Given the description of an element on the screen output the (x, y) to click on. 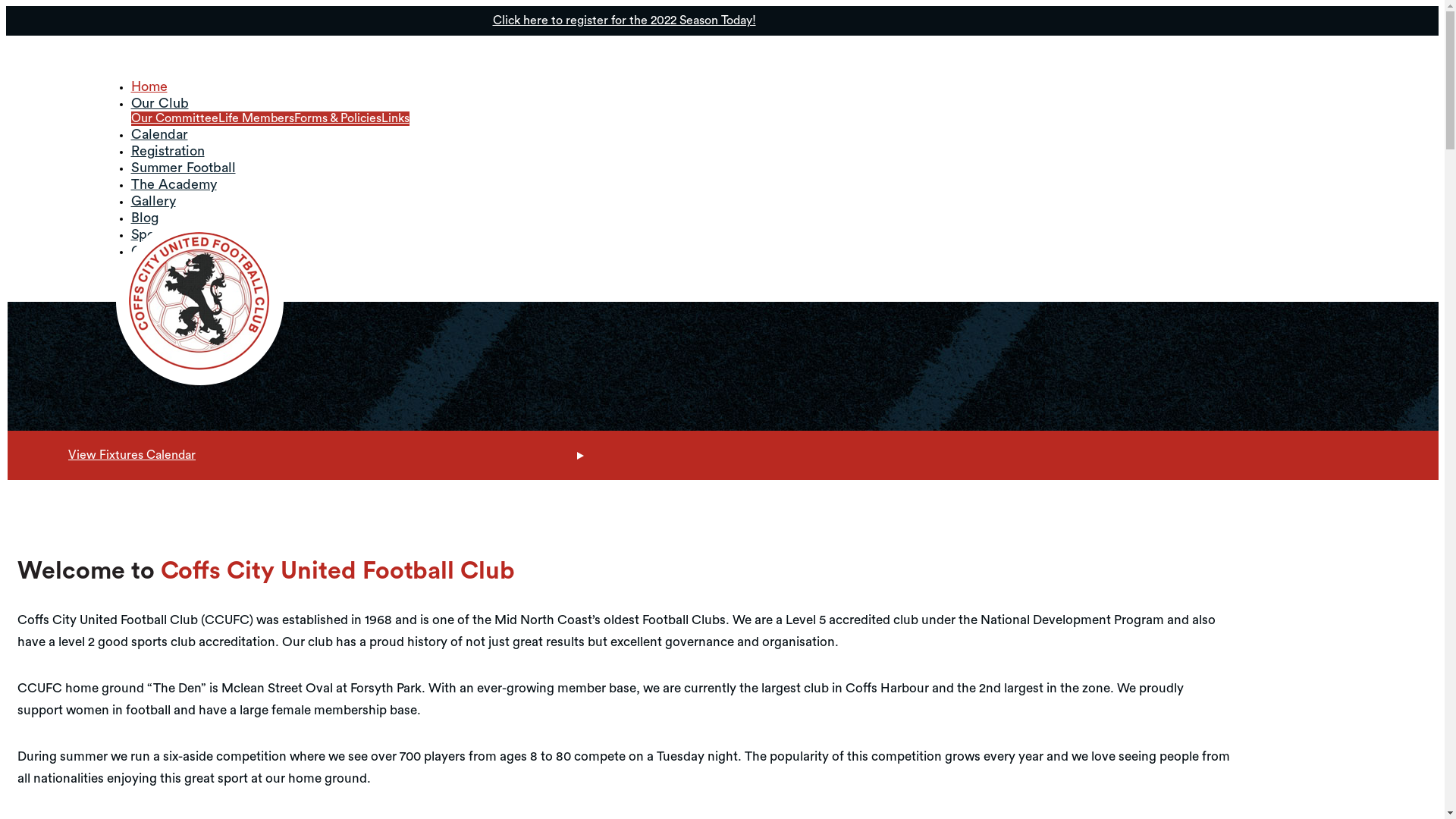
Summer Football Element type: text (182, 167)
The Academy Element type: text (173, 184)
Our Club Element type: text (159, 102)
Sponsors Element type: text (158, 234)
Calendar Element type: text (158, 134)
Click here to register for the 2022 Season Today! Element type: text (722, 20)
Forms & Policies Element type: text (337, 118)
Home Element type: text (148, 86)
Blog Element type: text (143, 217)
Life Members Element type: text (256, 118)
Our Committee Element type: text (173, 118)
Contact Element type: text (154, 250)
Registration Element type: text (166, 150)
Gallery Element type: text (152, 200)
View Fixtures Calendar Element type: text (722, 455)
Links Element type: text (394, 118)
Coffs City United Football Club Element type: hover (198, 301)
